Given the description of an element on the screen output the (x, y) to click on. 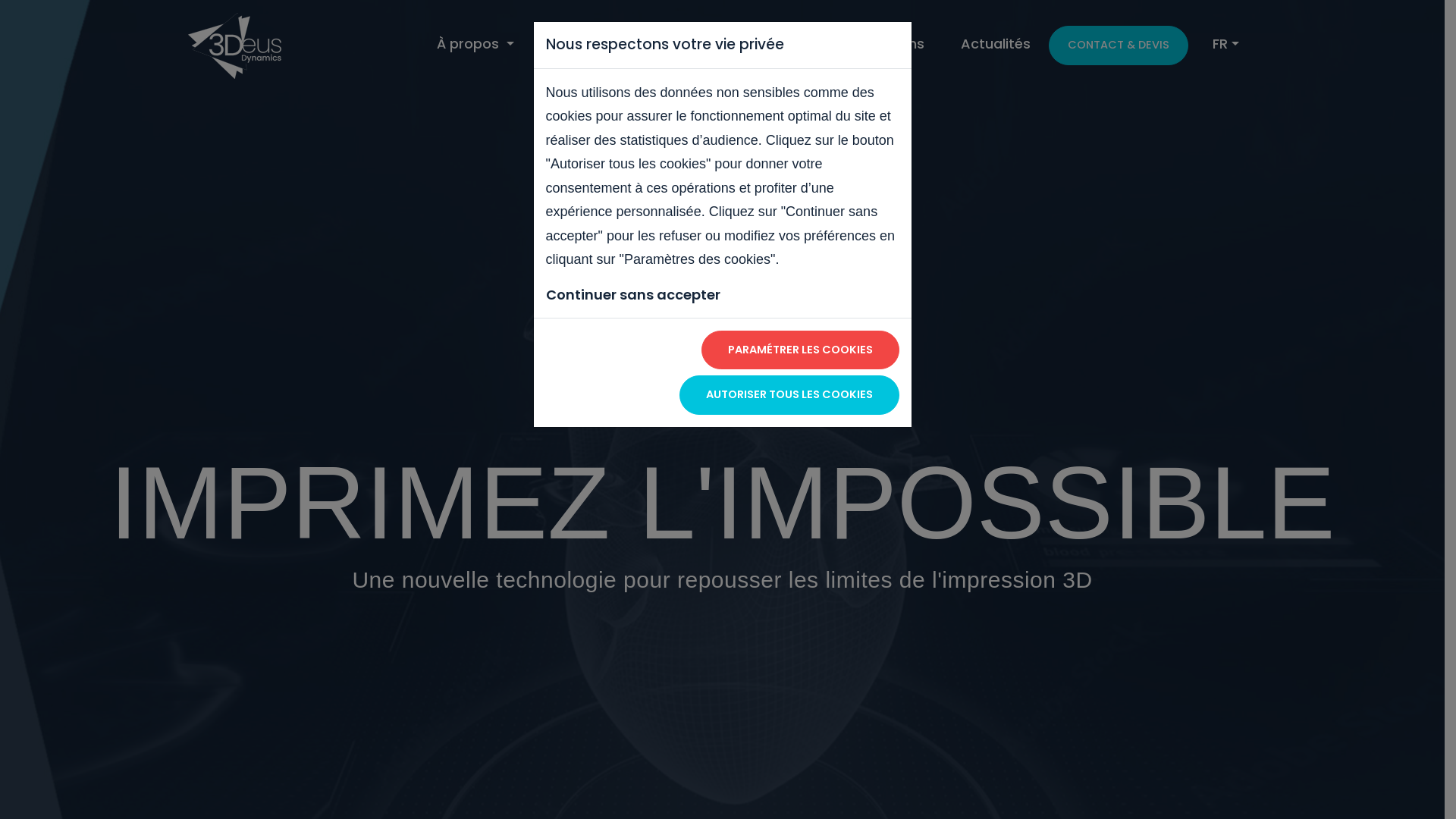
Services & Produits Element type: text (736, 43)
Applications Element type: text (881, 43)
Continuer sans accepter Element type: text (633, 293)
CONTACT & DEVIS Element type: text (1118, 45)
AUTORISER TOUS LES COOKIES Element type: text (789, 394)
Technologie Element type: text (592, 43)
FR Element type: text (1225, 43)
